Given the description of an element on the screen output the (x, y) to click on. 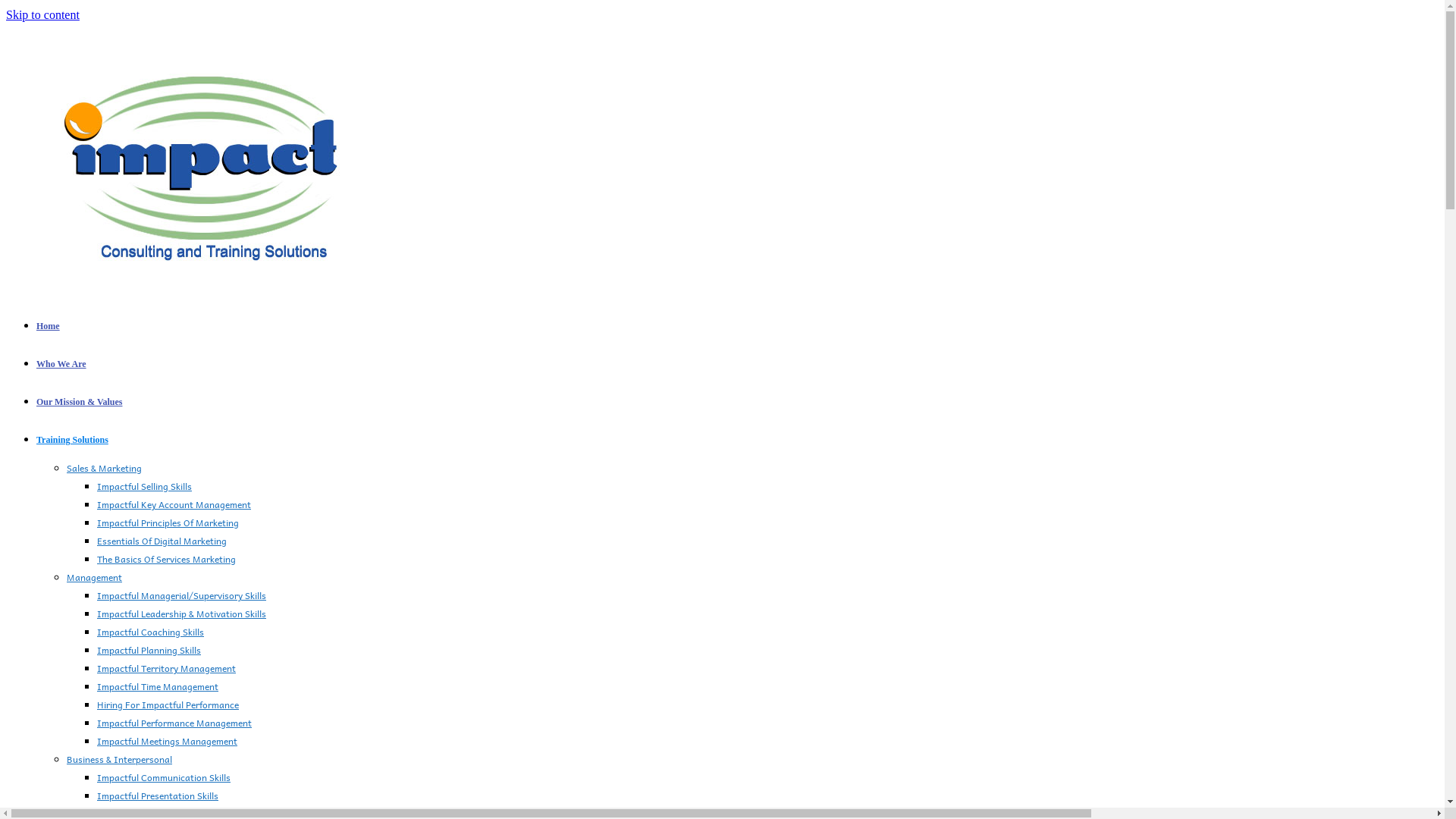
Our Mission & Values Element type: text (79, 401)
Home Element type: text (47, 325)
Management Element type: text (94, 576)
Impactful Presentation Skills Element type: text (157, 795)
Impactful Meetings Management Element type: text (167, 740)
Impactful Principles Of Marketing Element type: text (167, 522)
Impactful Territory Management Element type: text (166, 667)
Impactful Performance Management Element type: text (174, 722)
Skip to content Element type: text (42, 14)
Essentials Of Digital Marketing Element type: text (161, 540)
Impactful Planning Skills Element type: text (148, 649)
Training Solutions Element type: text (72, 439)
Impactful Leadership & Motivation Skills Element type: text (181, 613)
Hiring For Impactful Performance Element type: text (167, 704)
The Basics Of Services Marketing Element type: text (166, 558)
Business & Interpersonal Element type: text (119, 758)
Impactful Selling Skills Element type: text (144, 485)
Who We Are Element type: text (61, 363)
Impactful Key Account Management Element type: text (174, 503)
Impactful Time Management Element type: text (157, 685)
Sales & Marketing Element type: text (103, 467)
Impactful Managerial/Supervisory Skills Element type: text (181, 594)
Impactful Communication Skills Element type: text (163, 776)
Impactful Coaching Skills Element type: text (150, 631)
